Given the description of an element on the screen output the (x, y) to click on. 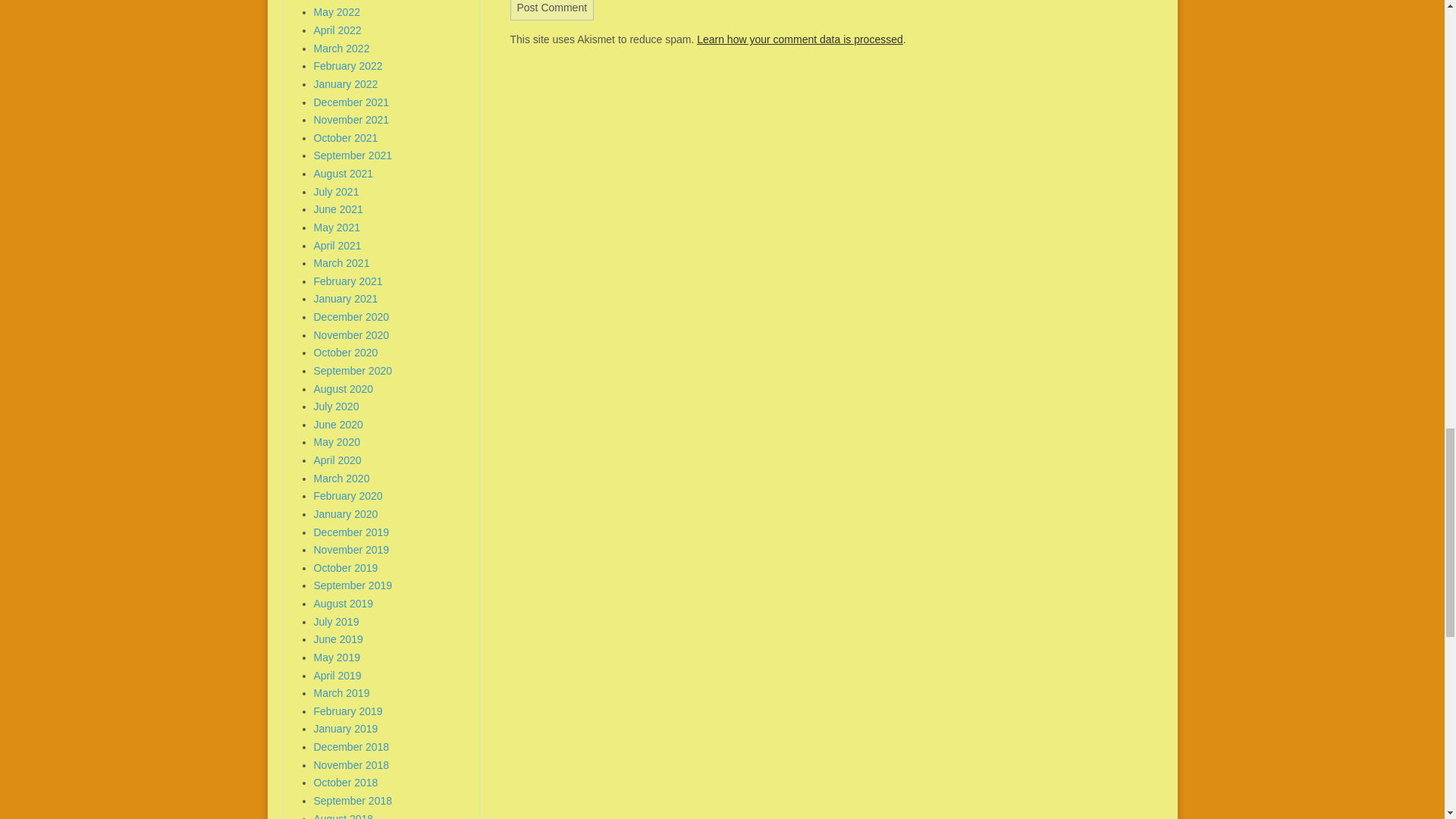
Post Comment (551, 10)
Learn how your comment data is processed (799, 39)
Post Comment (551, 10)
